Given the description of an element on the screen output the (x, y) to click on. 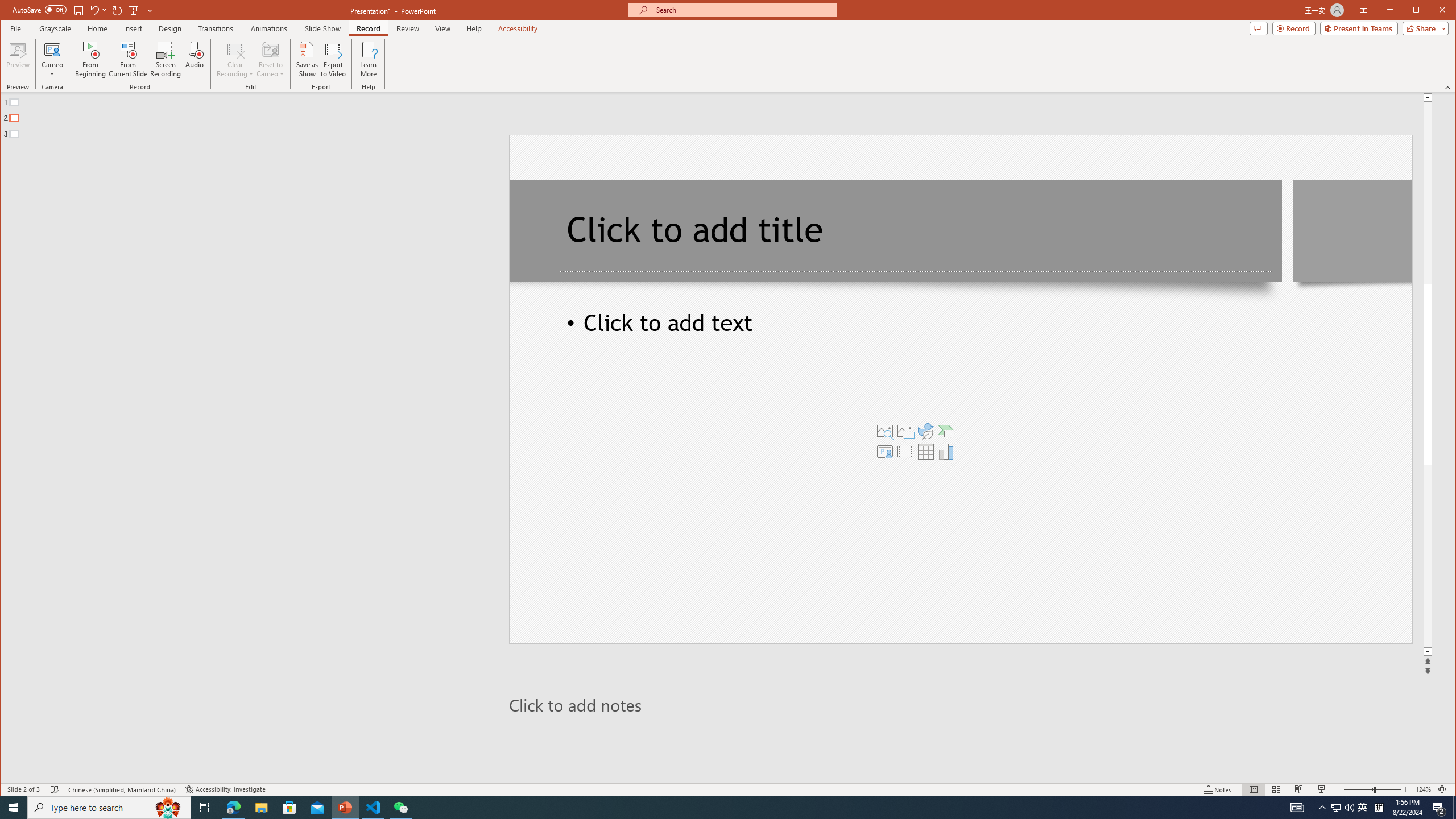
Content Placeholder (915, 441)
From Current Slide... (127, 59)
Title TextBox (915, 230)
Microsoft Edge - 1 running window (233, 807)
